Given the description of an element on the screen output the (x, y) to click on. 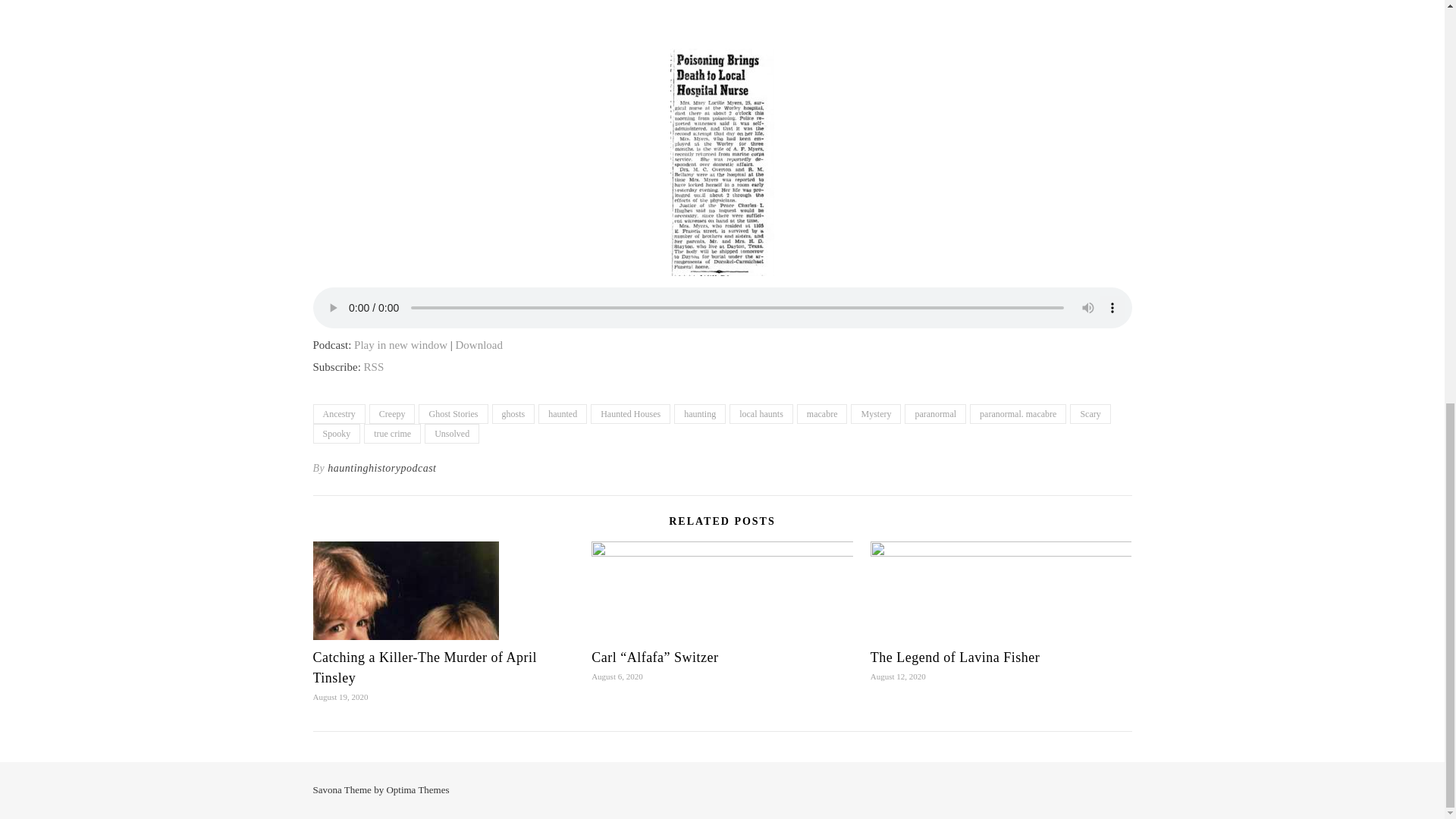
Ancestry (339, 414)
Play in new window (399, 345)
true crime (392, 433)
Download (479, 345)
ghosts (513, 414)
Subscribe via RSS (374, 367)
haunting (699, 414)
Mystery (875, 414)
Play in new window (399, 345)
Download (479, 345)
Ghost Stories (453, 414)
hauntinghistorypodcast (381, 468)
Creepy (391, 414)
haunted (562, 414)
Spooky (336, 433)
